Given the description of an element on the screen output the (x, y) to click on. 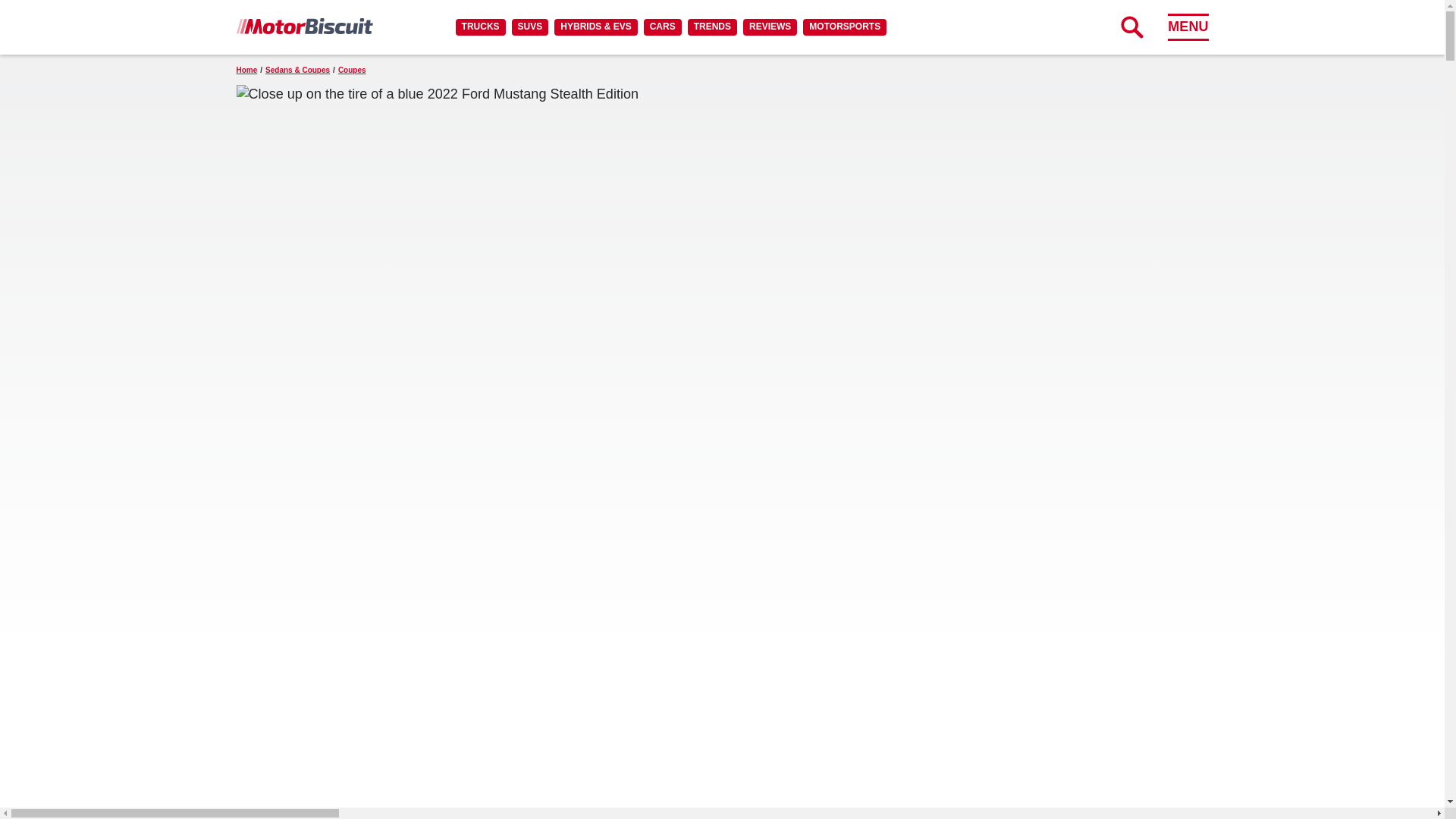
CARS (662, 26)
MOTORSPORTS (844, 26)
MotorBiscuit (303, 26)
MENU (1187, 26)
TRUCKS (480, 26)
SUVS (530, 26)
REVIEWS (769, 26)
Expand Search (1131, 26)
TRENDS (711, 26)
